Given the description of an element on the screen output the (x, y) to click on. 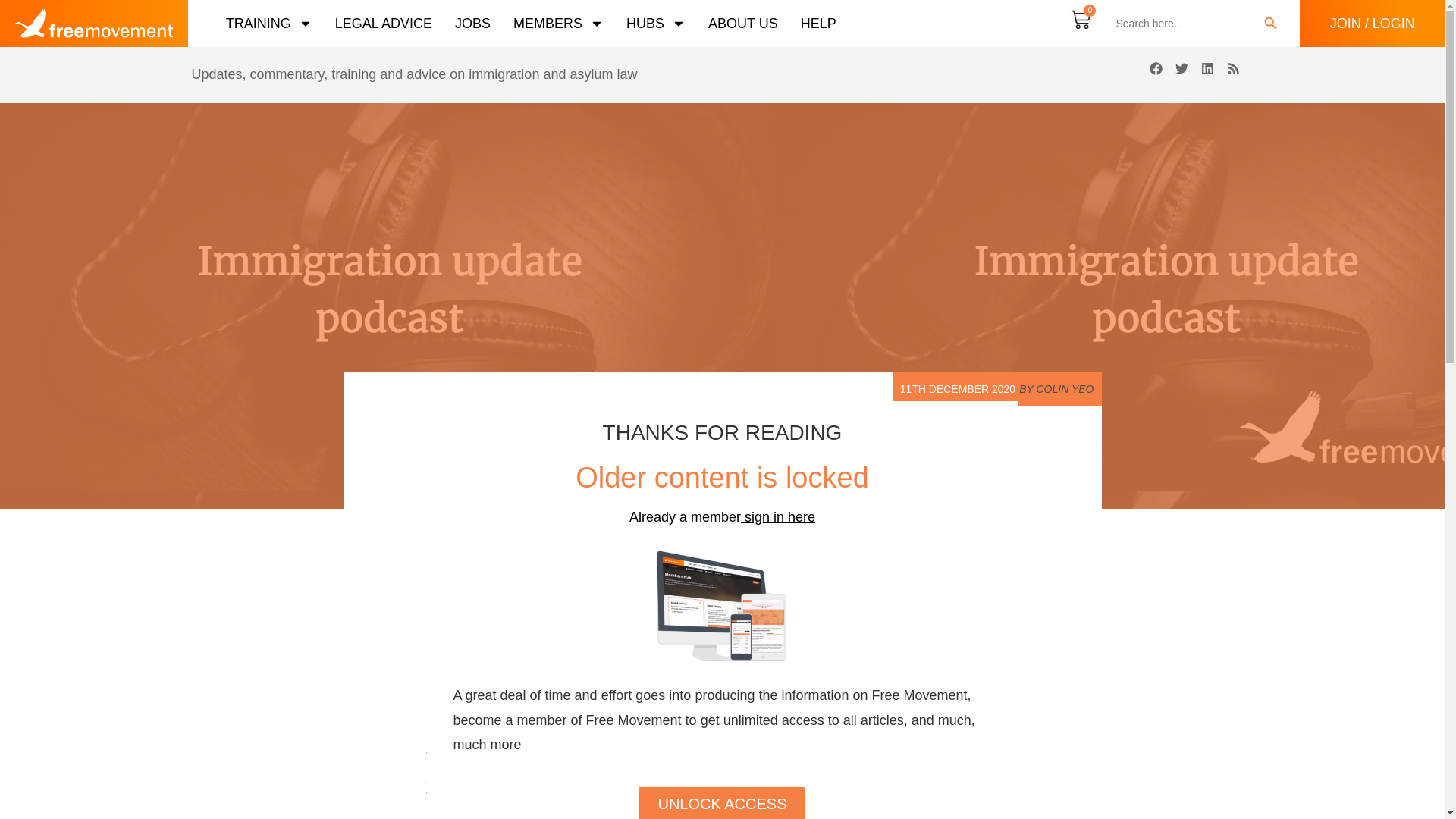
HELP (817, 22)
JOBS (472, 22)
TRAINING (269, 22)
HUBS (655, 22)
MEMBERS (558, 22)
LEGAL ADVICE (383, 22)
ABOUT US (742, 22)
